Given the description of an element on the screen output the (x, y) to click on. 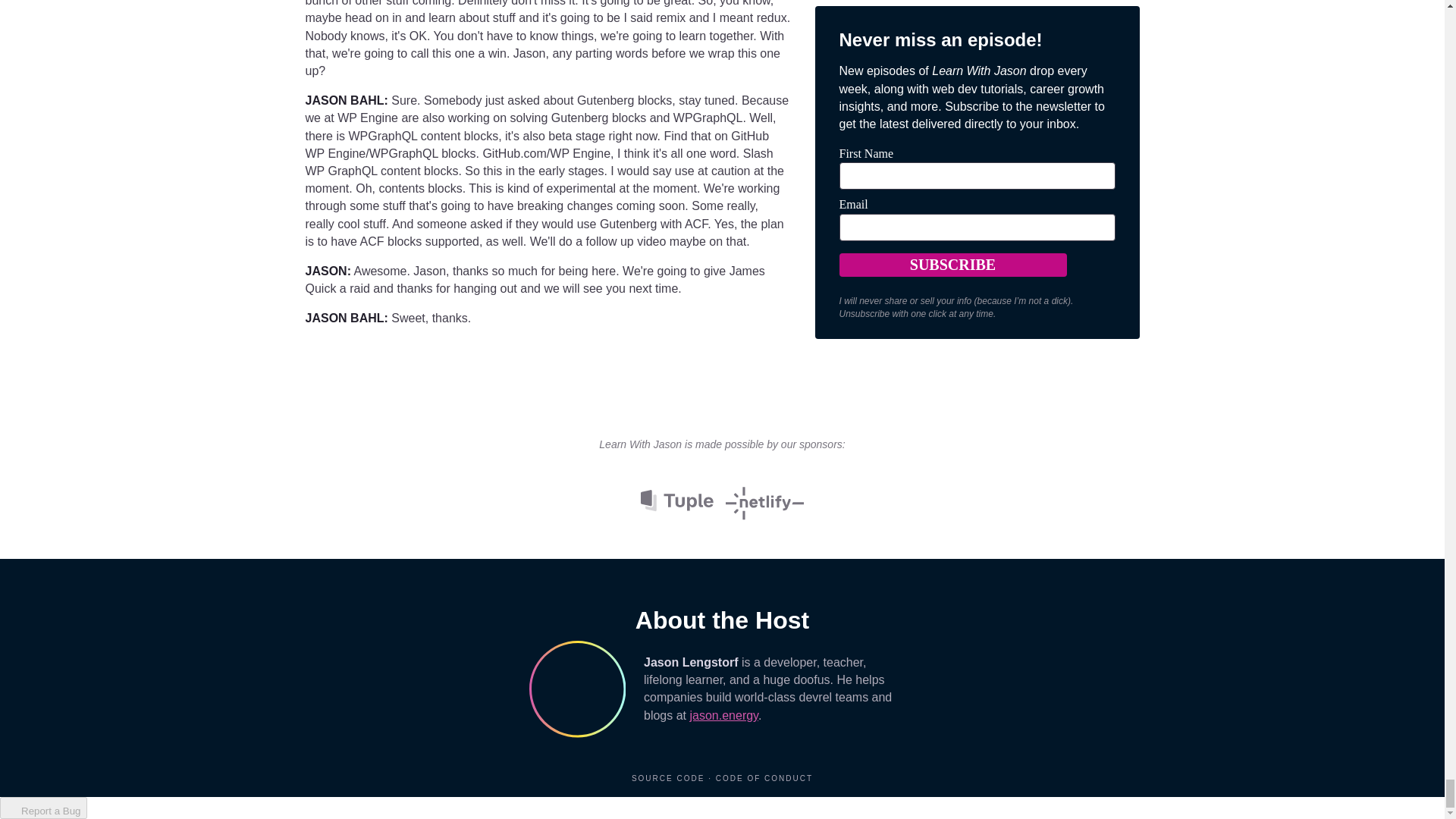
CODE OF CONDUCT (764, 777)
jason.energy (722, 715)
Netlify (764, 499)
SOURCE CODE (669, 777)
